Given the description of an element on the screen output the (x, y) to click on. 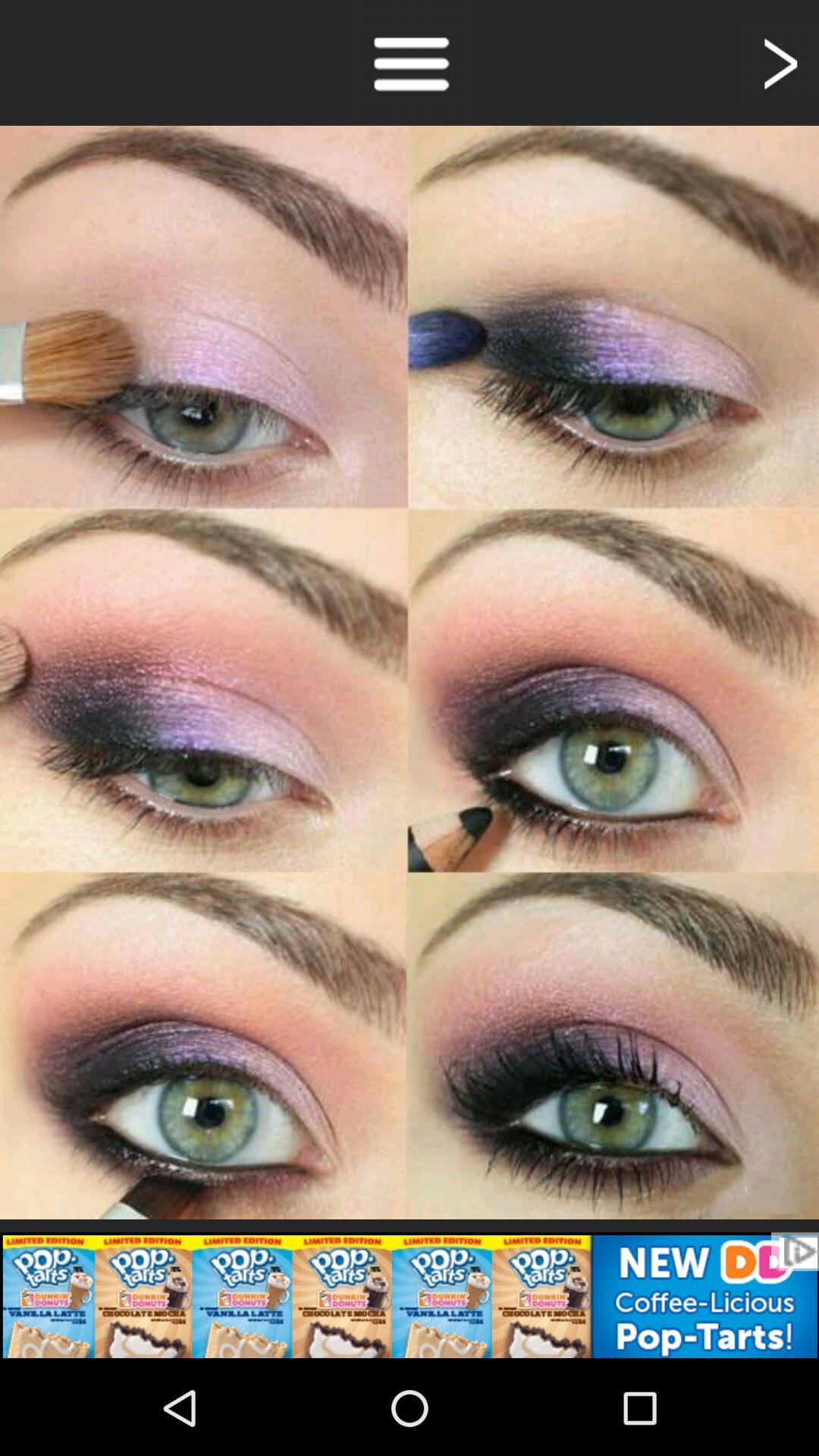
next (778, 62)
